Given the description of an element on the screen output the (x, y) to click on. 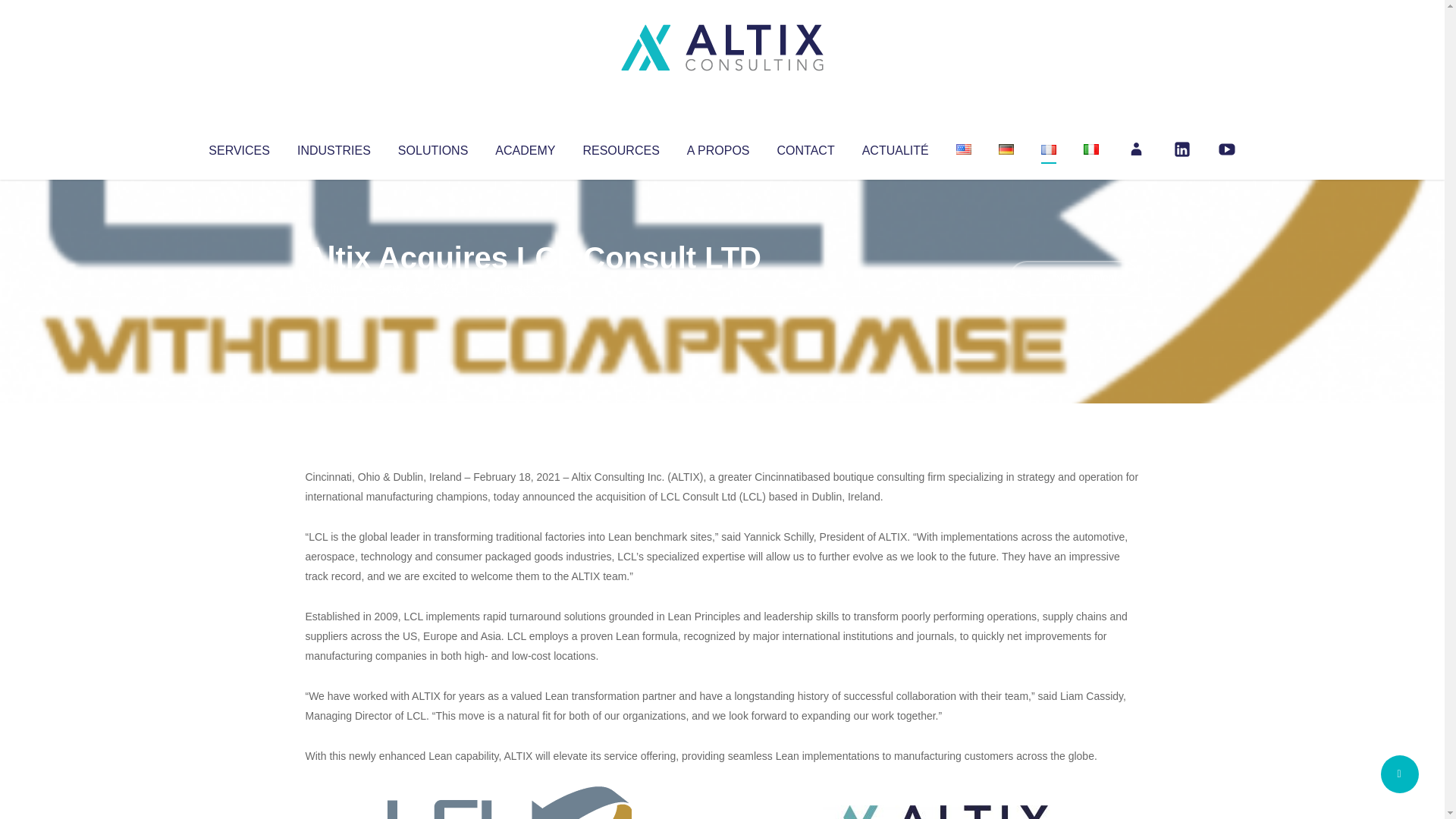
RESOURCES (620, 146)
ACADEMY (524, 146)
SOLUTIONS (432, 146)
Articles par Altix (333, 287)
Uncategorized (530, 287)
SERVICES (238, 146)
Altix (333, 287)
INDUSTRIES (334, 146)
A PROPOS (718, 146)
No Comments (1073, 278)
